Given the description of an element on the screen output the (x, y) to click on. 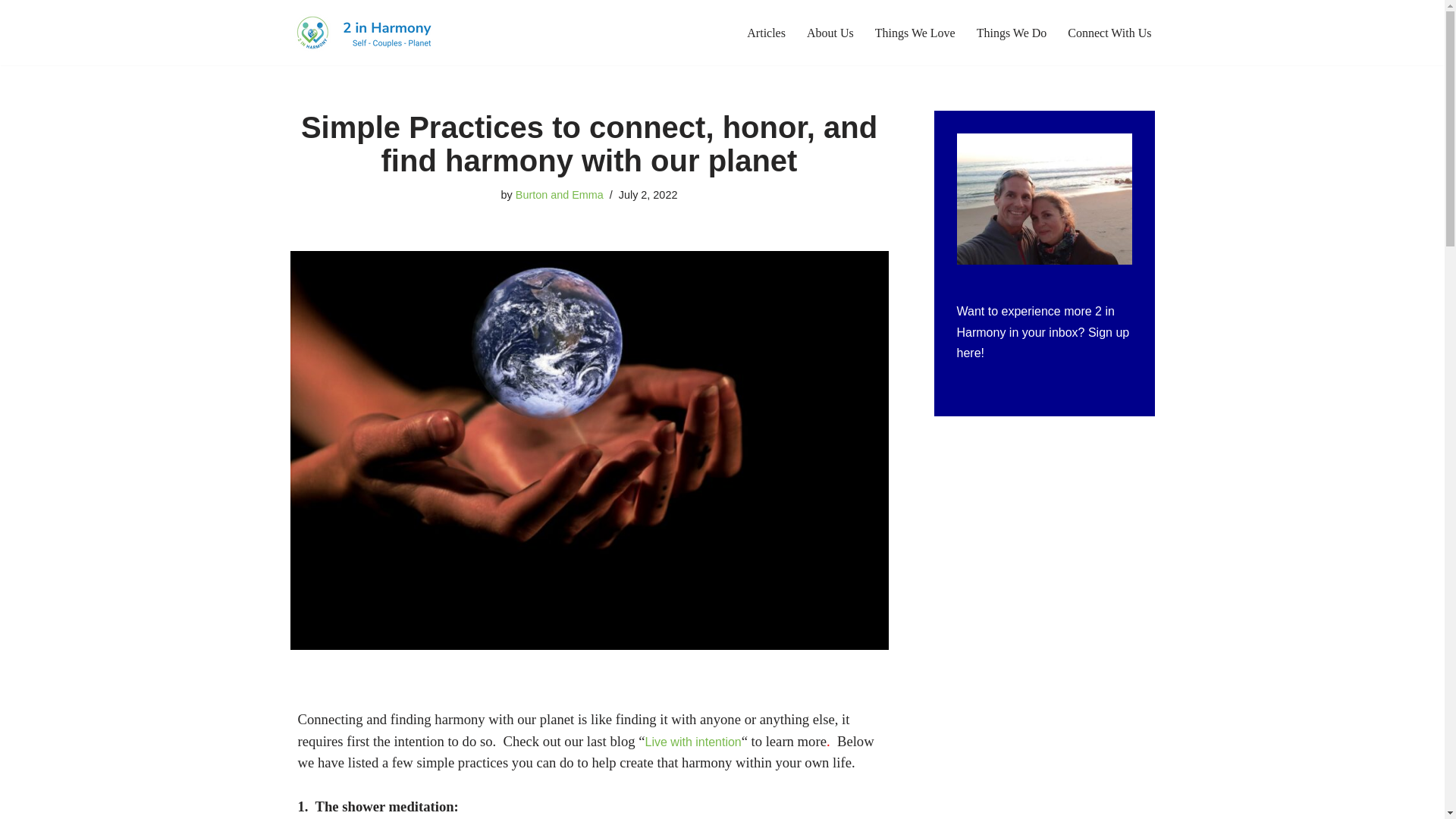
Articles (766, 32)
Live with intention (693, 741)
Things We Love (915, 32)
Posts by Burton and Emma (559, 194)
Burton and Emma (559, 194)
Skip to content (11, 31)
Things We Do (1011, 32)
About Us (829, 32)
Connect With Us (1109, 32)
